Given the description of an element on the screen output the (x, y) to click on. 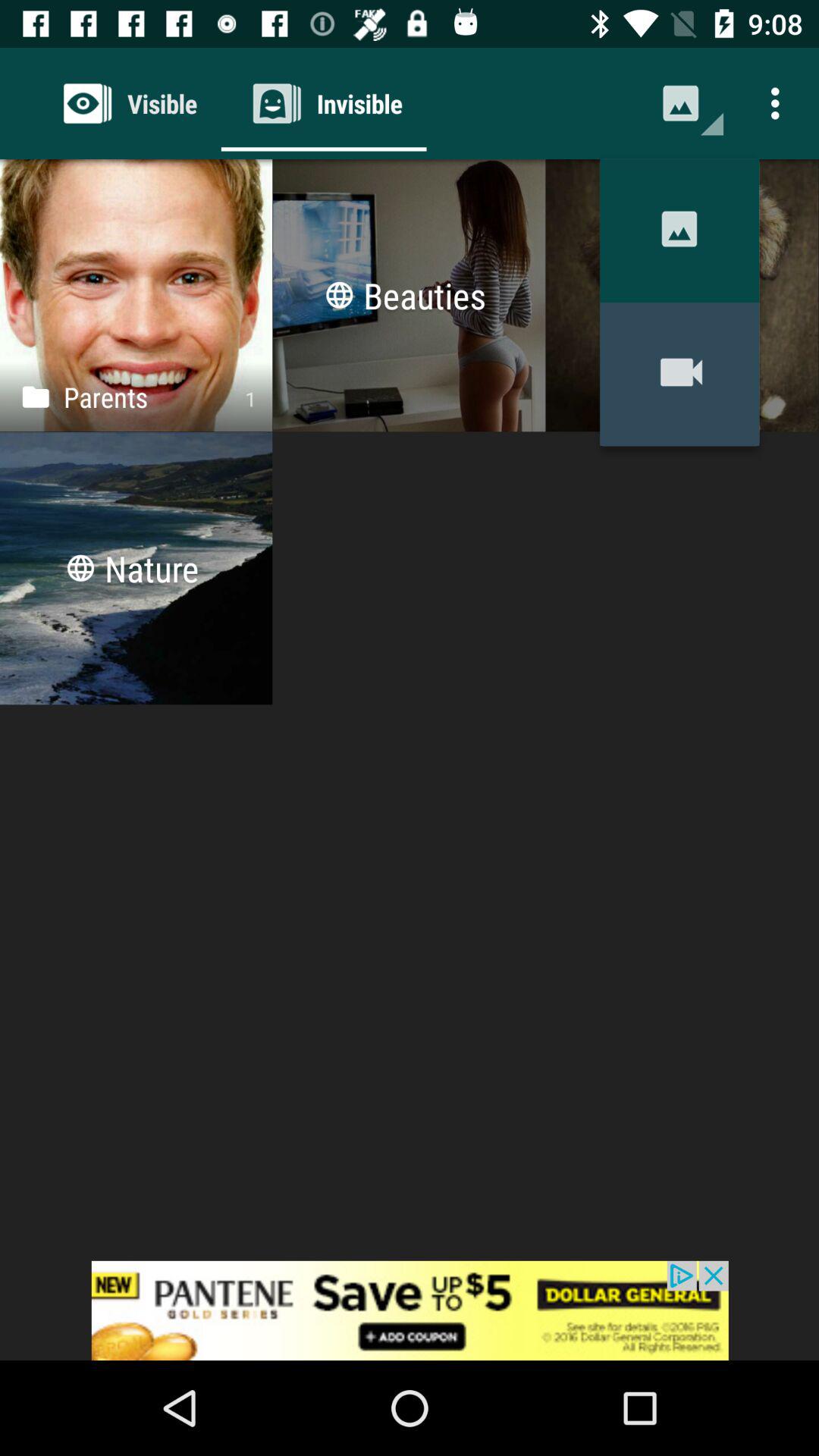
advertisement banner (409, 1310)
